Given the description of an element on the screen output the (x, y) to click on. 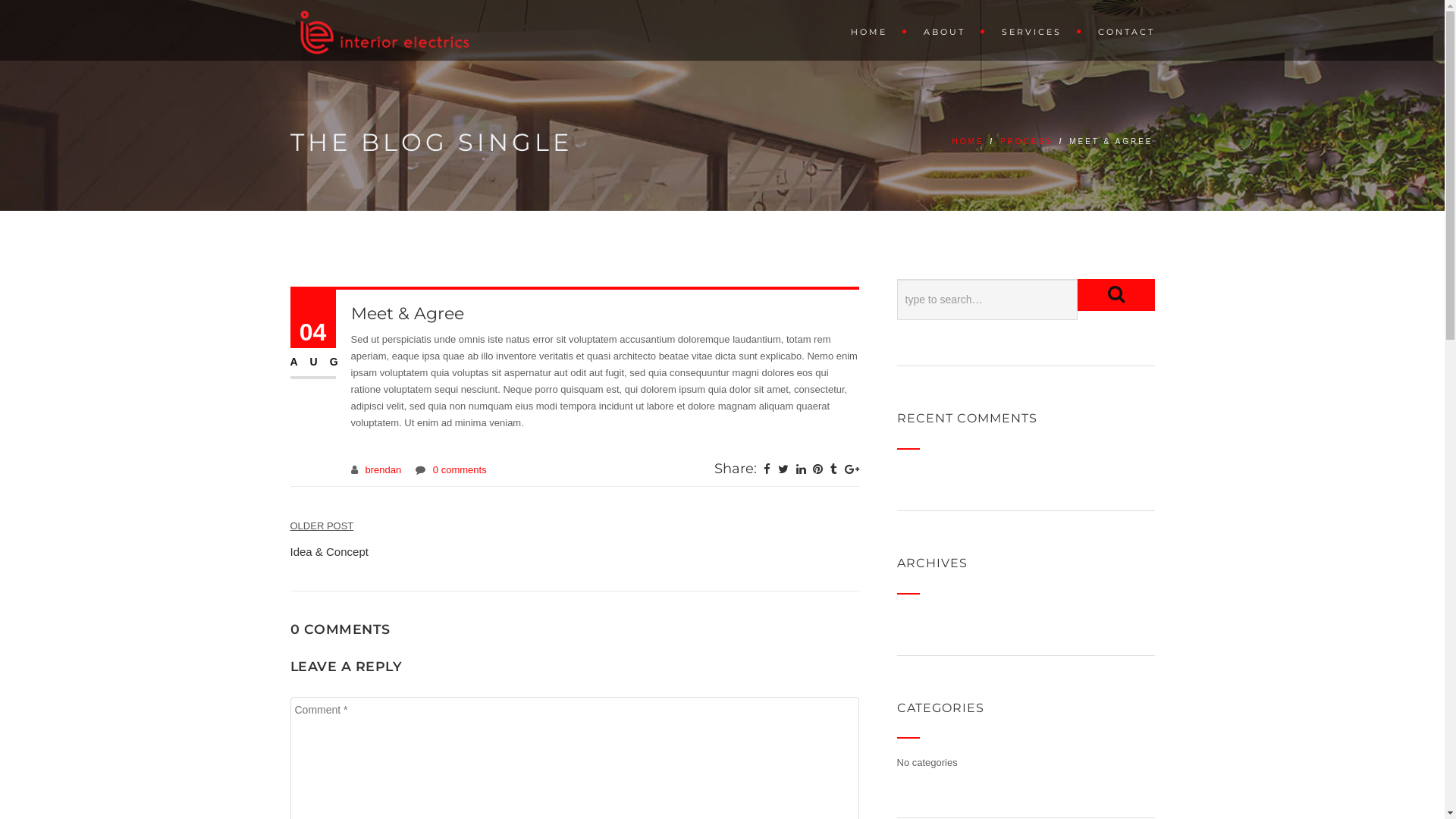
brendan Element type: text (383, 469)
CONTACT Element type: text (1118, 30)
HOME Element type: text (871, 30)
HOME Element type: text (968, 141)
PROCESS Element type: text (1026, 141)
ABOUT Element type: text (947, 30)
SERVICES Element type: text (1033, 30)
OLDER POST
Idea & Concept Element type: text (328, 538)
